Given the description of an element on the screen output the (x, y) to click on. 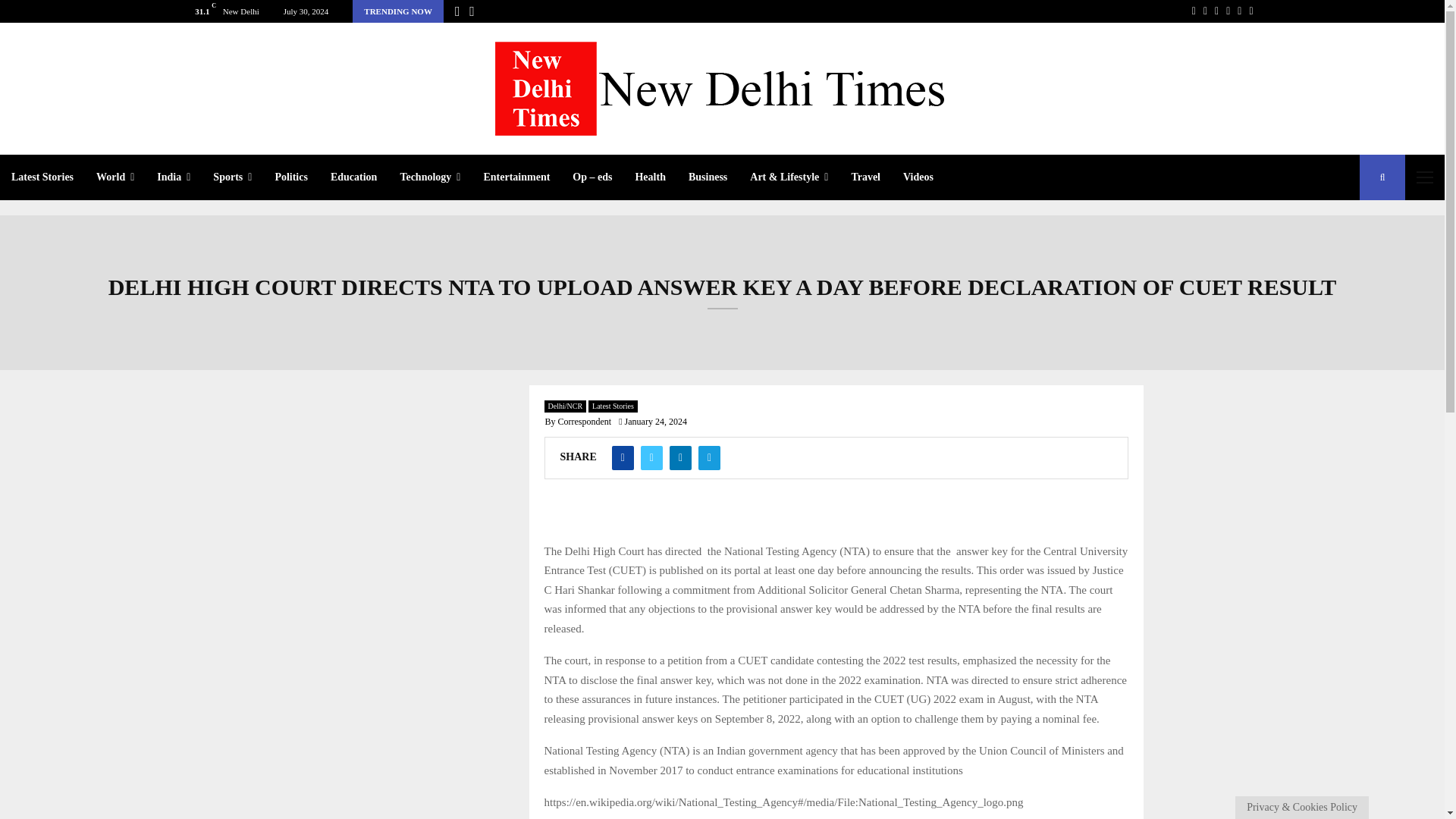
Latest Stories (42, 176)
